Given the description of an element on the screen output the (x, y) to click on. 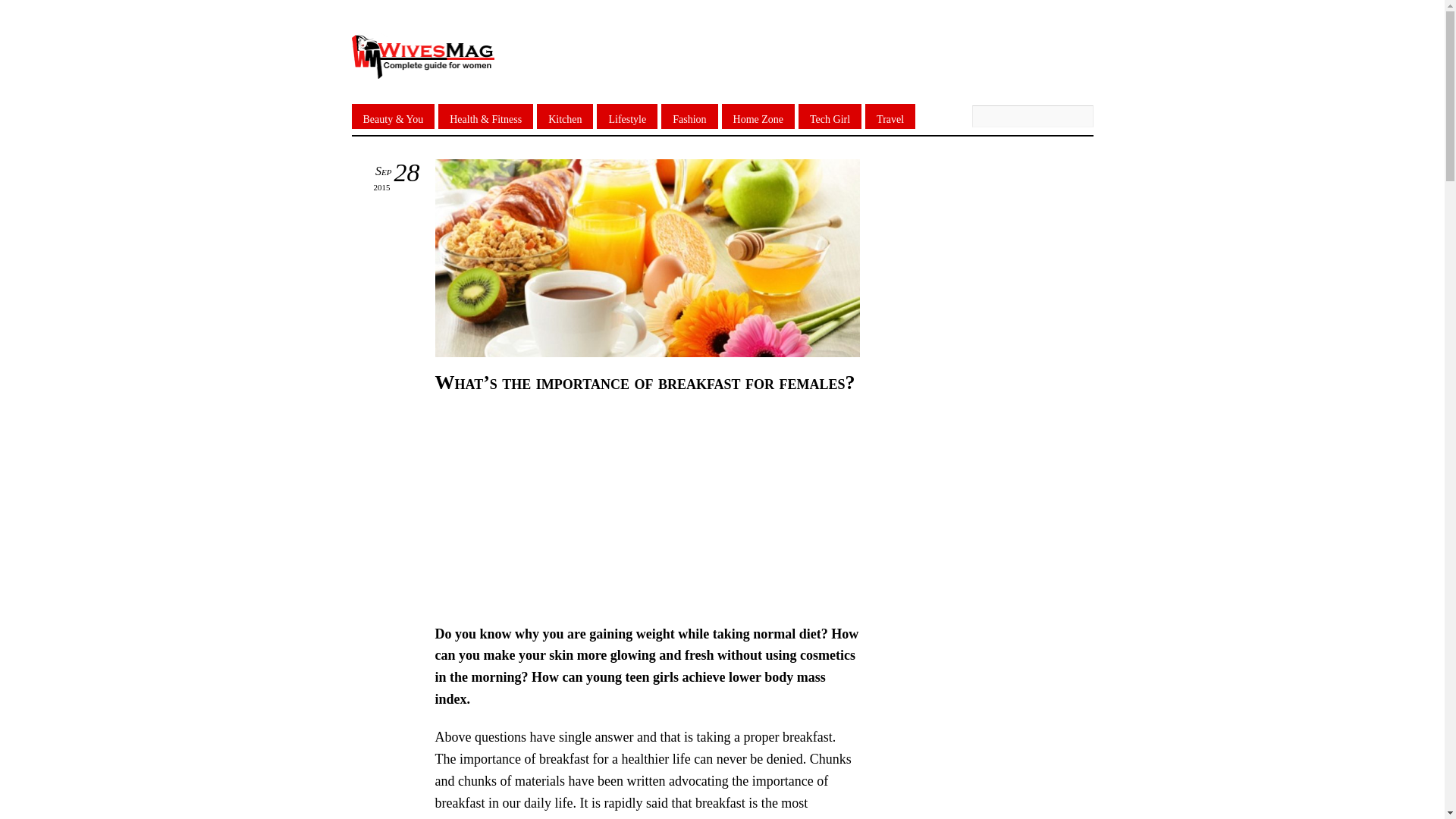
WivesMag Logo (421, 55)
Fashion (689, 116)
Search (1032, 116)
Lifestyle (627, 116)
Travel (889, 116)
importance of breakfast (647, 257)
WivesMag (421, 70)
Kitchen (564, 116)
Home Zone (758, 116)
Tech Girl (829, 116)
